Given the description of an element on the screen output the (x, y) to click on. 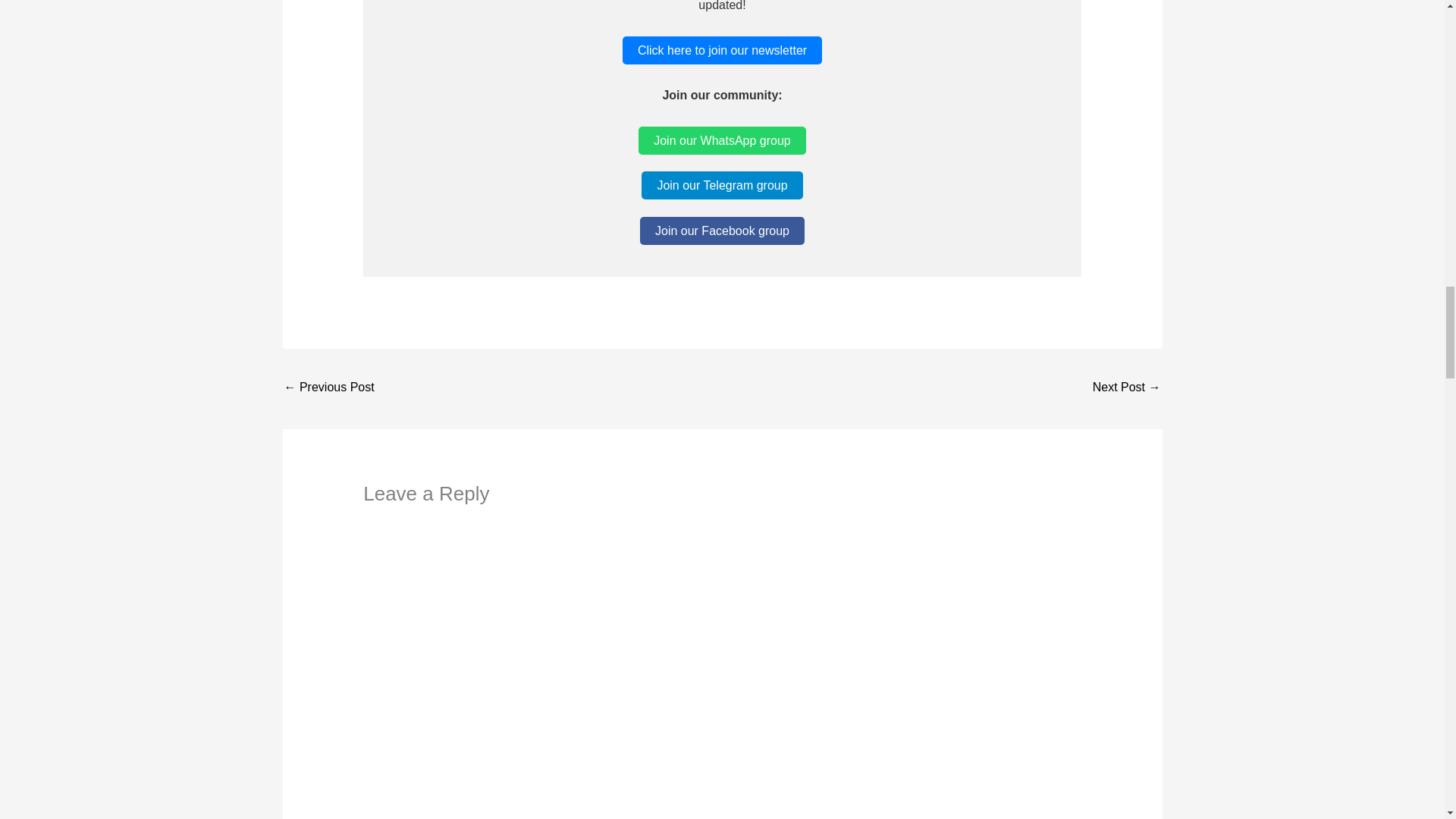
Click here to join our newsletter (722, 50)
How to Get Started with 9Mobile Morebusiness 2.0 Package (328, 388)
Join our WhatsApp group (722, 140)
Join our Facebook group (722, 230)
Join our Telegram group (722, 185)
